Given the description of an element on the screen output the (x, y) to click on. 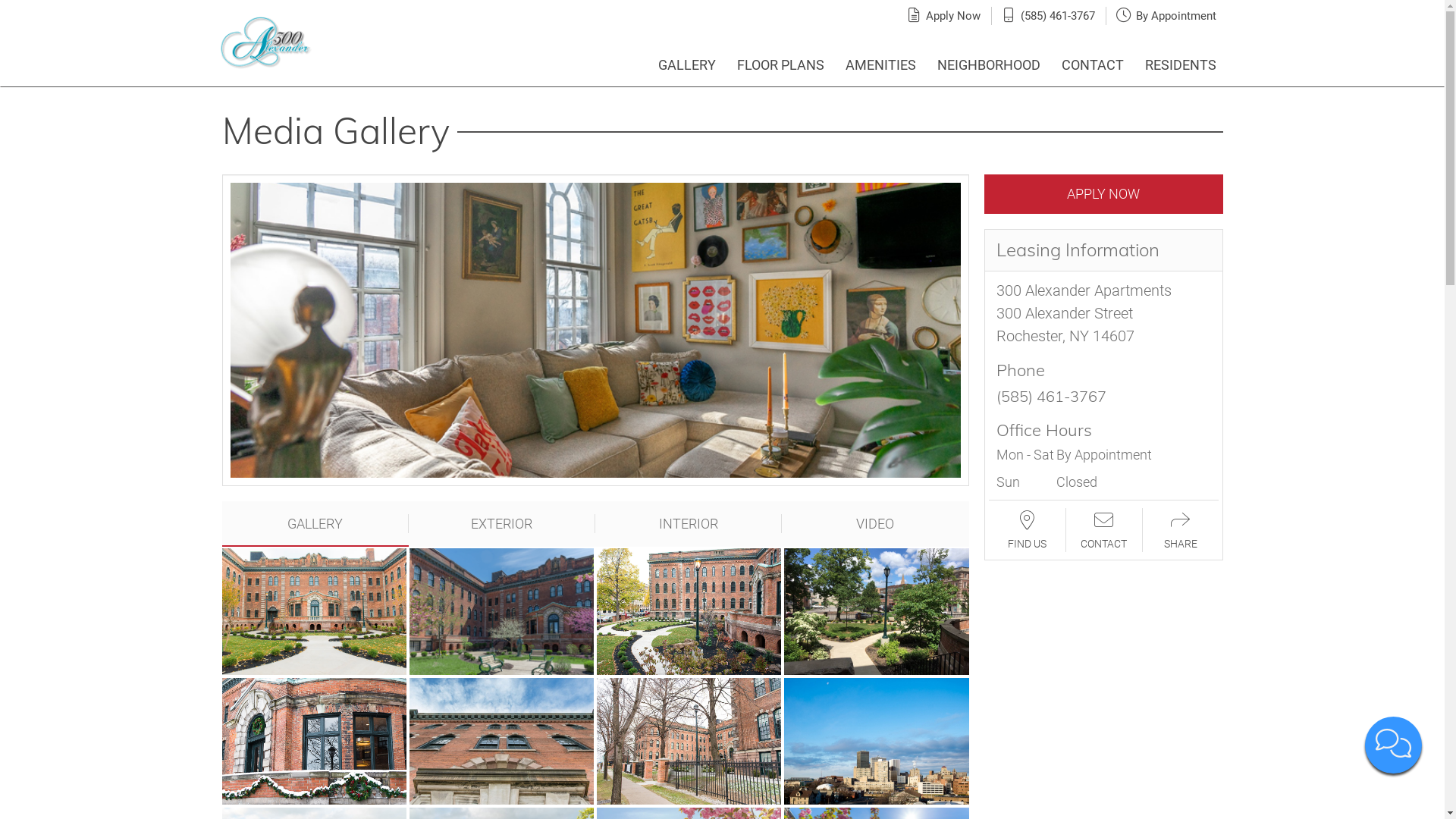
Apply Now Element type: text (952, 15)
APPLY NOW Element type: text (1103, 193)
NEIGHBORHOOD Element type: text (988, 58)
GALLERY Element type: text (314, 523)
View full image in modal Element type: text (688, 611)
FLOOR PLANS Element type: text (780, 58)
FIND US Element type: text (1026, 530)
(585) 461-3767 Element type: text (1051, 395)
View full image in modal Element type: text (501, 611)
(585) 461-3767 Element type: text (1057, 15)
VIDEO Element type: text (874, 523)
GALLERY Element type: text (686, 58)
EXTERIOR Element type: text (501, 523)
View full image in modal Element type: text (876, 740)
CONTACT Element type: text (1092, 58)
CONTACT Element type: text (1103, 530)
RESIDENTS Element type: text (1180, 58)
View full image in modal Element type: text (313, 611)
INTERIOR Element type: text (688, 523)
AMENITIES Element type: text (879, 58)
CONTACT MODAL Element type: text (1393, 744)
View full image in modal Element type: text (313, 740)
SHARE Element type: text (1179, 530)
View full image in modal Element type: text (501, 740)
View full image in modal Element type: text (688, 740)
View full image in modal Element type: text (876, 611)
